Given the description of an element on the screen output the (x, y) to click on. 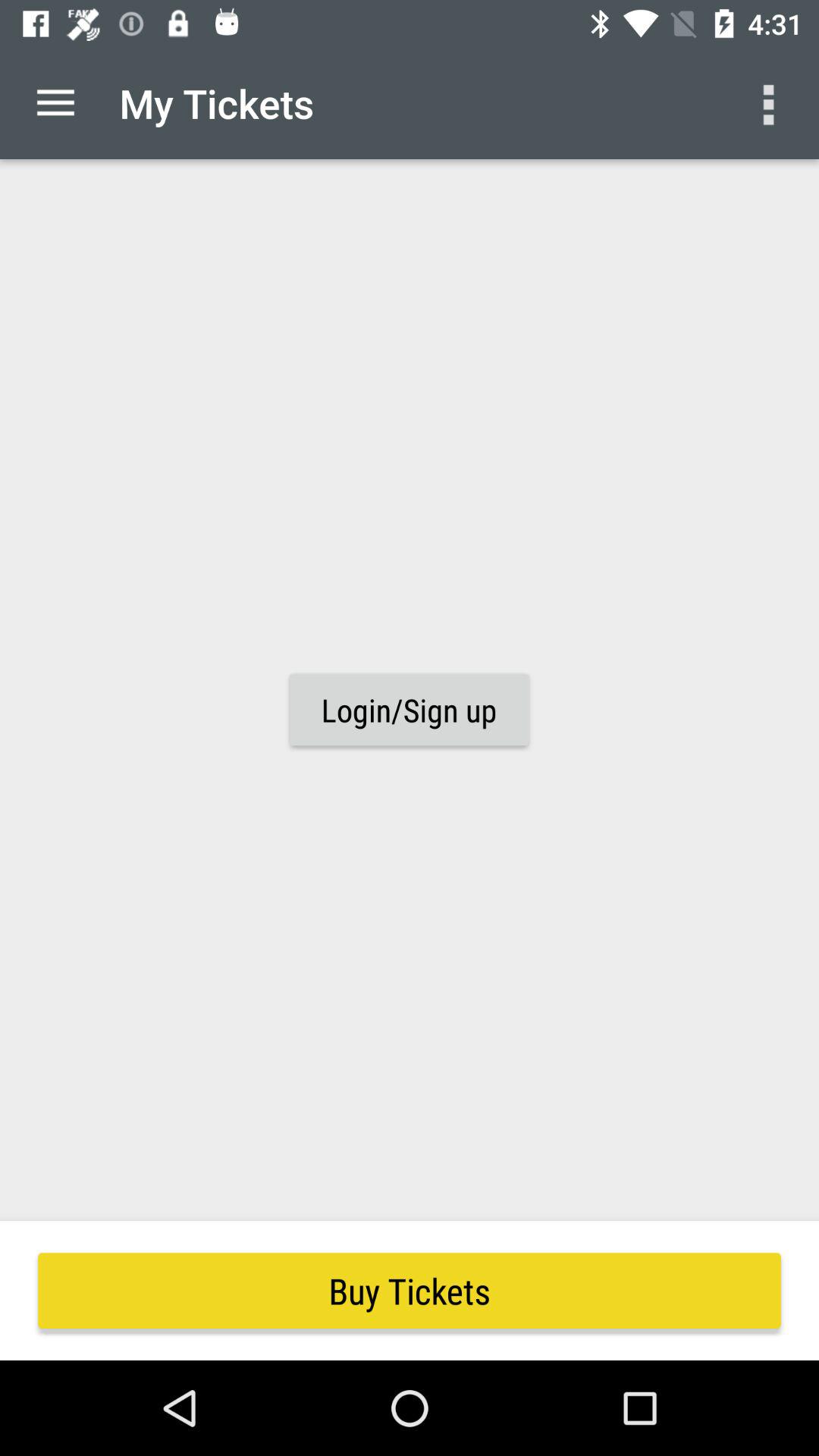
tap the item above the buy tickets (55, 103)
